Given the description of an element on the screen output the (x, y) to click on. 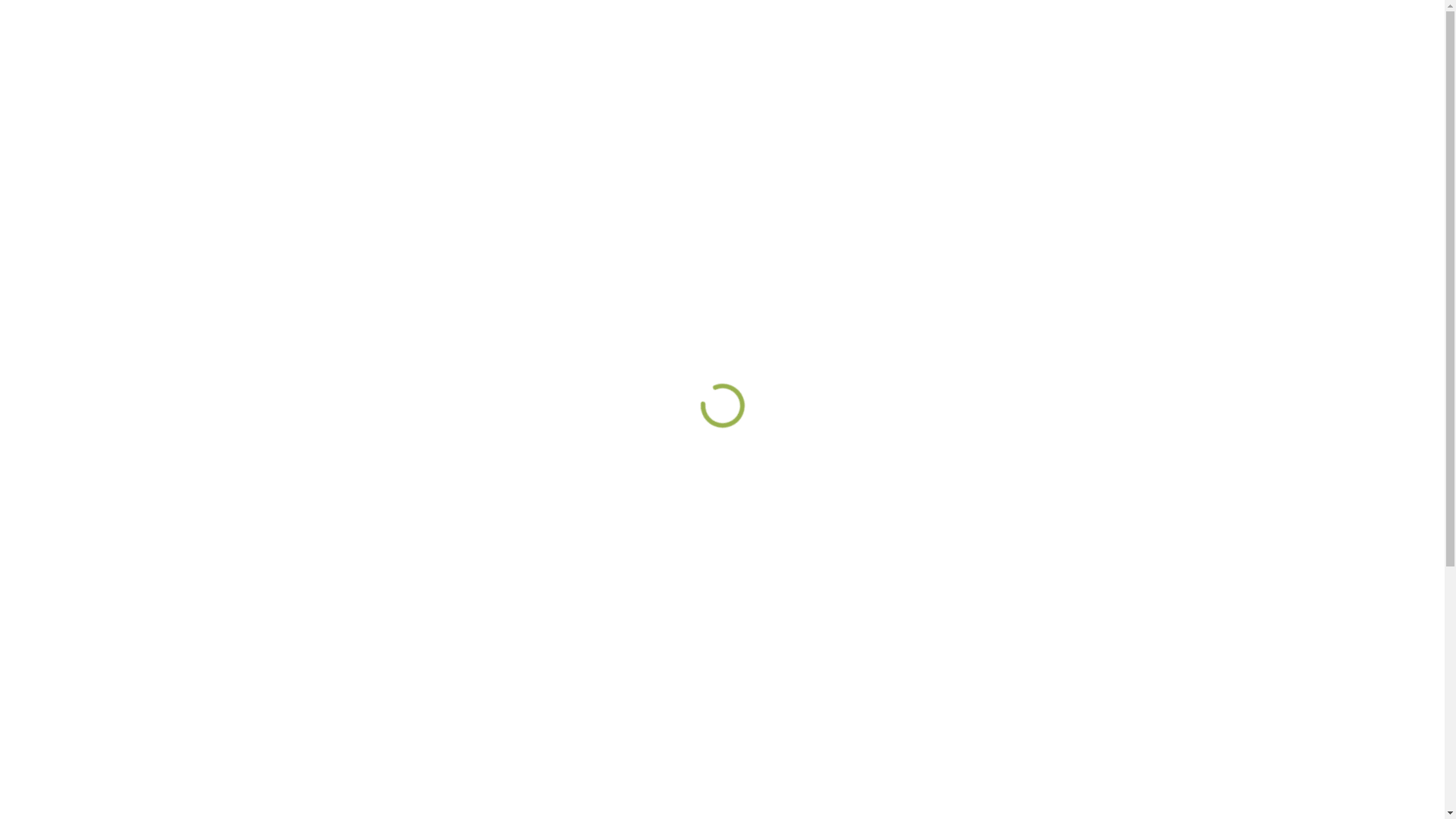
Table Reservation System Element type: text (1162, 539)
facebook Element type: text (31, 12)
Restaurant Social Media Marketing Element type: text (830, 539)
email Element type: text (79, 12)
English Element type: text (1060, 102)
instagram Element type: text (1332, 793)
Take Away Food Ordering System Element type: text (1183, 481)
CONTACT Element type: text (1369, 102)
Restaurant Reservation Software Element type: text (1181, 568)
Restaurant App Integrations Element type: text (1167, 654)
Restaurant Promotions and Marketing Element type: text (838, 568)
Restaurant Pre Order and Payment System Element type: text (1207, 712)
Food Delivery System Element type: text (1151, 510)
Online Restaurant Reservations Element type: text (1177, 596)
Back Home Element type: text (721, 595)
Restaurant Promotions System Element type: text (1176, 683)
email Element type: text (1388, 793)
Restaurant Website Development and Management Element type: text (873, 481)
phone Element type: text (1360, 793)
ABOUT Element type: text (1263, 102)
Restaurant Reservation Systems Element type: text (1180, 625)
How can I help you? Element type: text (37, 777)
Restaurant Customer Loyalty Programs Element type: text (841, 510)
HOME Element type: text (1170, 102)
facebook Element type: text (1306, 793)
phone Element type: text (54, 12)
